Given the description of an element on the screen output the (x, y) to click on. 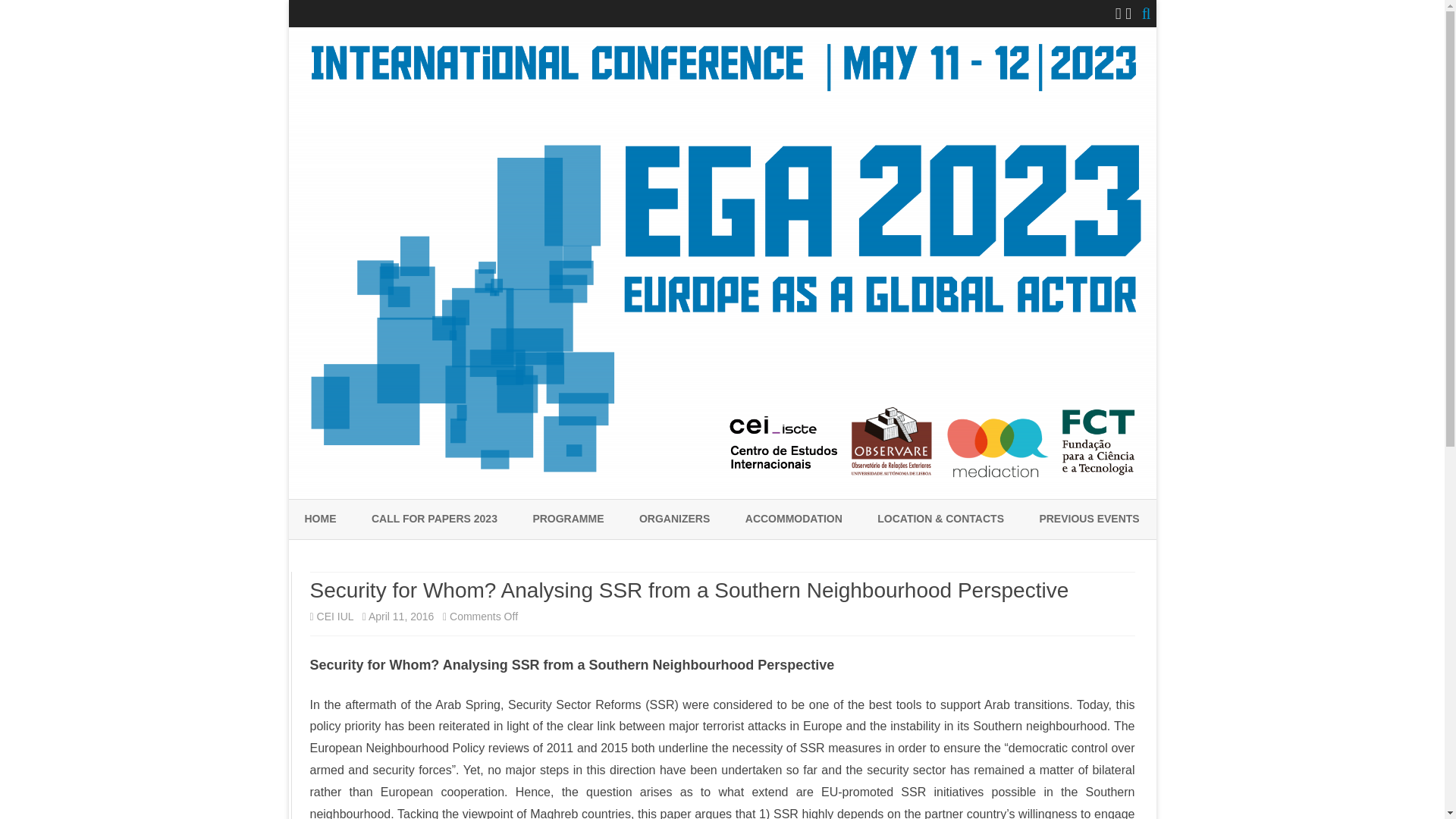
ACCOMMODATION (794, 518)
CEI IUL (335, 616)
PROGRAMME (568, 518)
ORGANIZERS (674, 518)
CALL FOR PAPERS 2023 (434, 518)
PREVIOUS EVENTS (1088, 518)
